Given the description of an element on the screen output the (x, y) to click on. 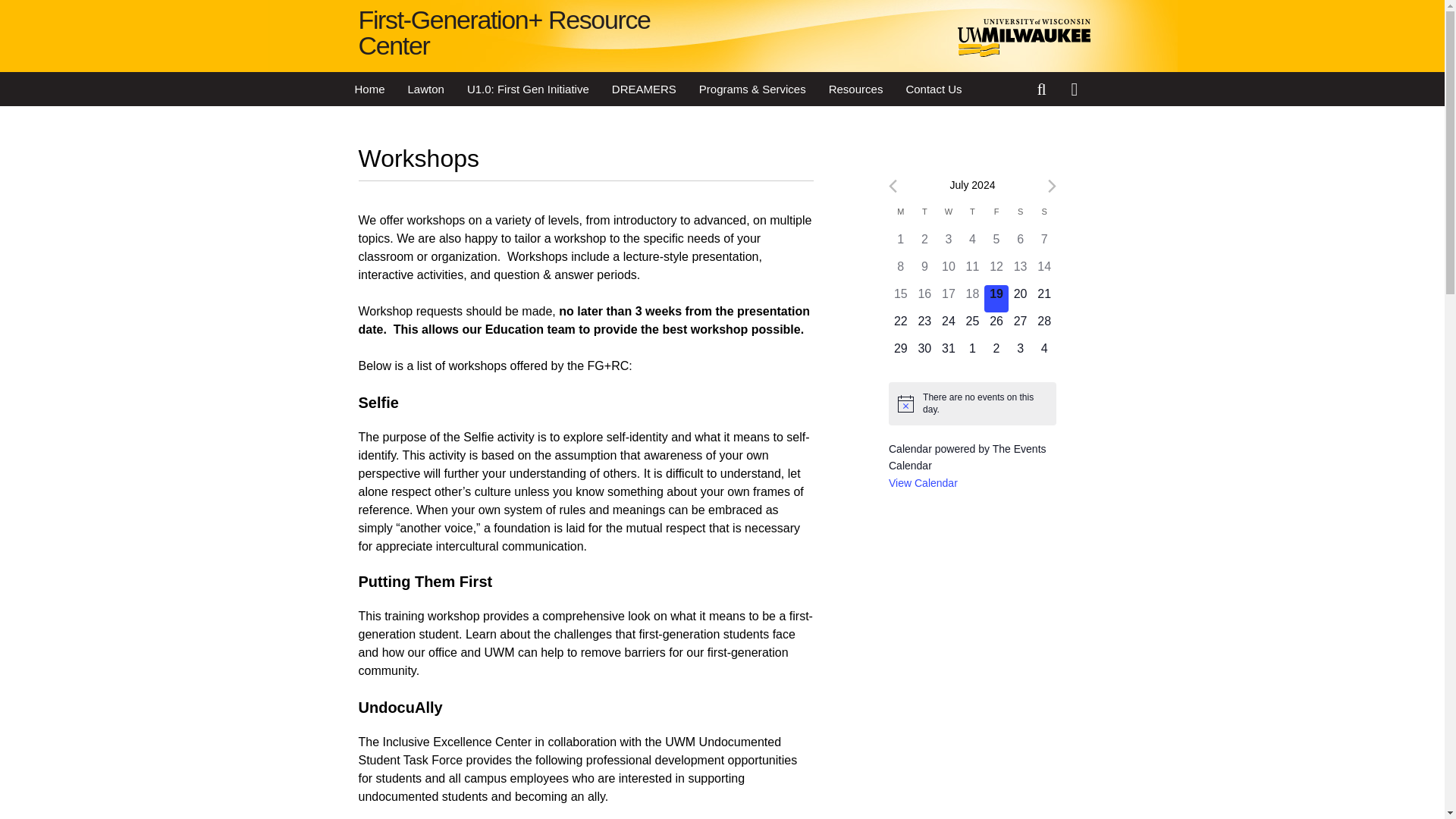
Search (1043, 89)
View more events. (923, 482)
Home (369, 89)
UWM Menu (1078, 89)
Lawton (425, 89)
